Given the description of an element on the screen output the (x, y) to click on. 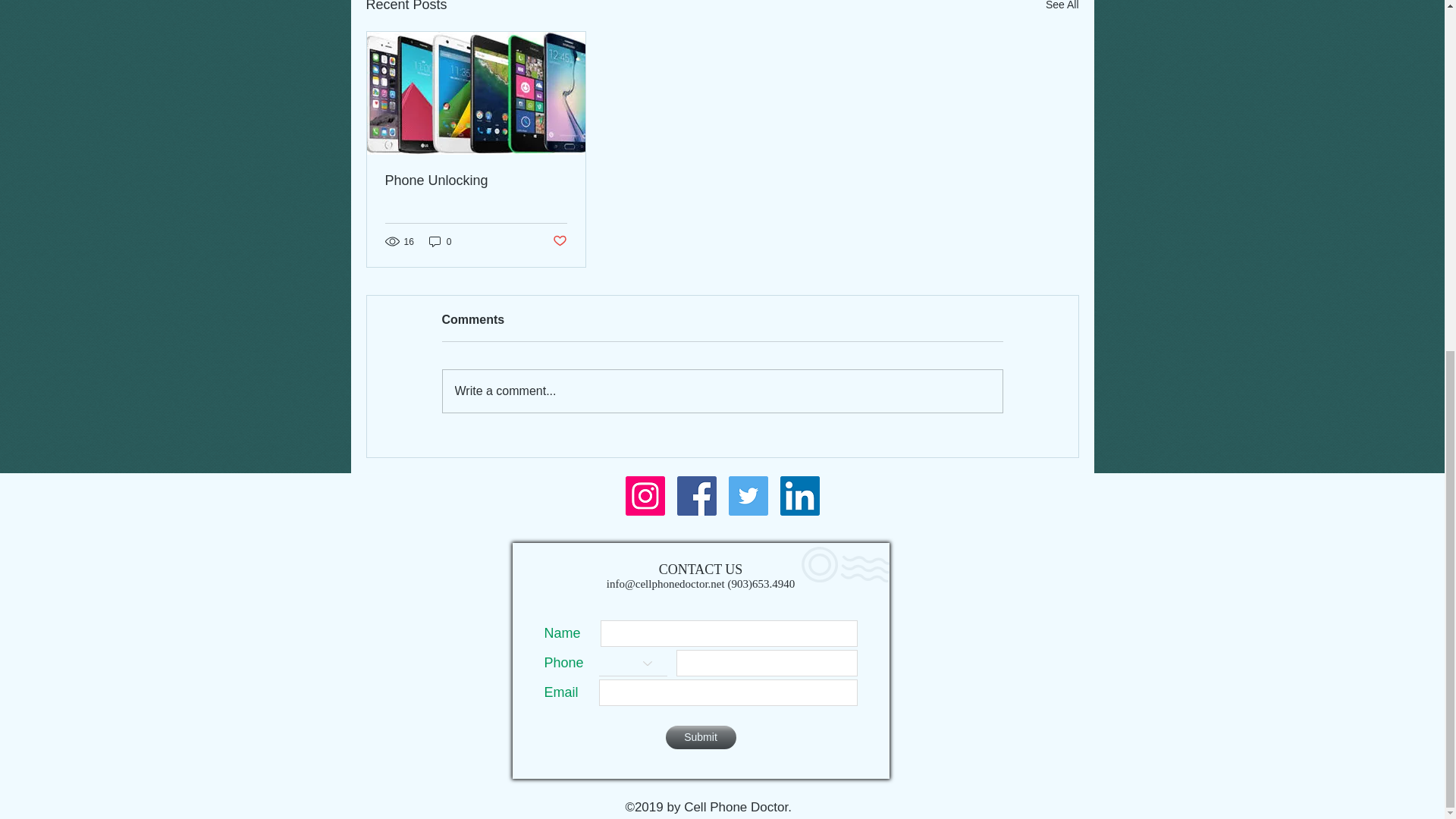
Post not marked as liked (558, 241)
Write a comment... (722, 391)
0 (440, 241)
Submit (700, 737)
Phone Unlocking (476, 180)
See All (1061, 7)
